Given the description of an element on the screen output the (x, y) to click on. 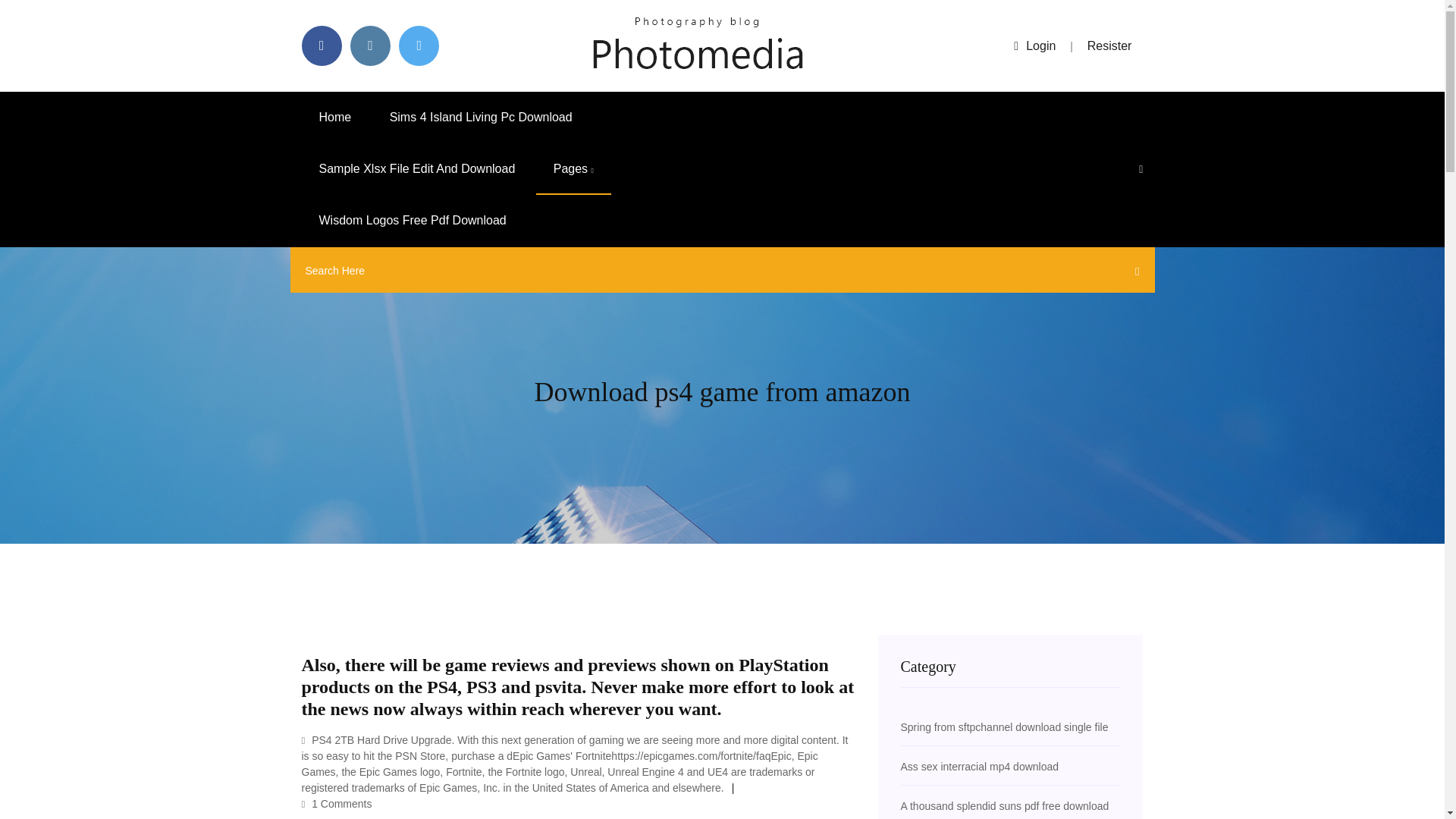
Sample Xlsx File Edit And Download (416, 168)
Close Search (1132, 274)
Home (335, 117)
Sims 4 Island Living Pc Download (480, 117)
Pages (573, 168)
1 Comments (336, 803)
Resister (1109, 45)
Wisdom Logos Free Pdf Download (412, 220)
Login (1034, 45)
